Given the description of an element on the screen output the (x, y) to click on. 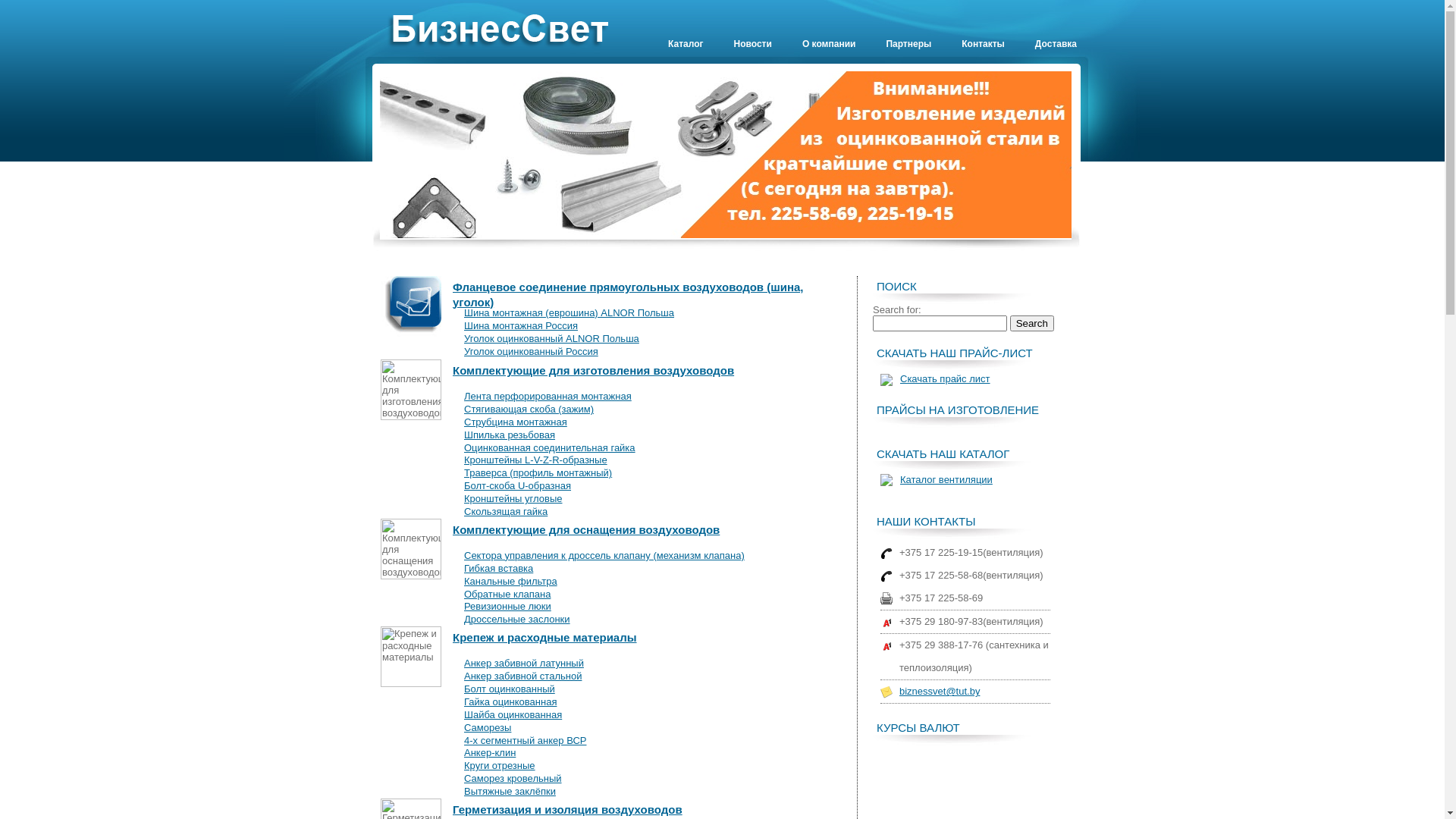
biznessvet@tut.by Element type: text (939, 690)
Search Element type: text (1032, 323)
